Given the description of an element on the screen output the (x, y) to click on. 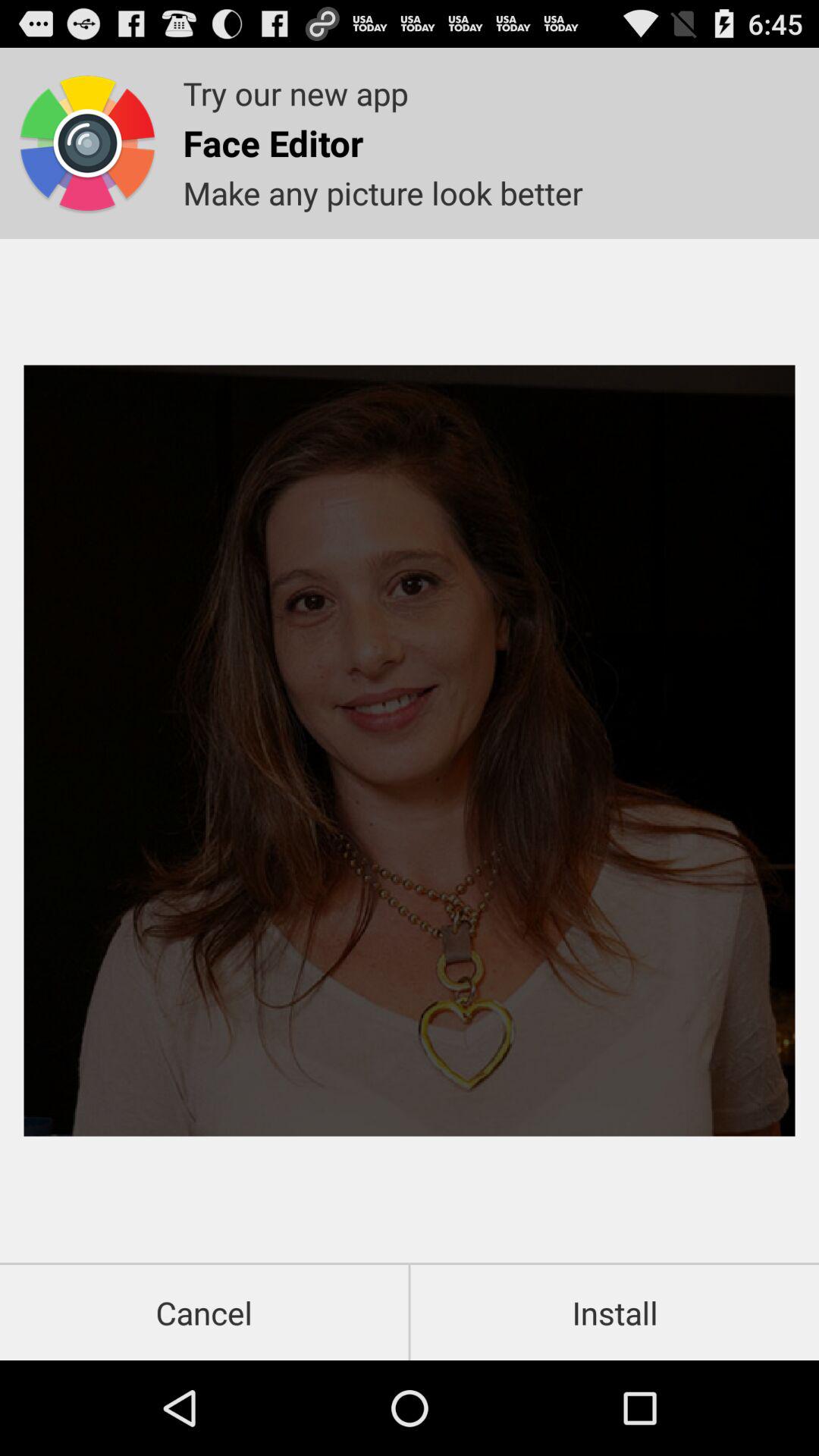
flip until the cancel icon (204, 1312)
